Given the description of an element on the screen output the (x, y) to click on. 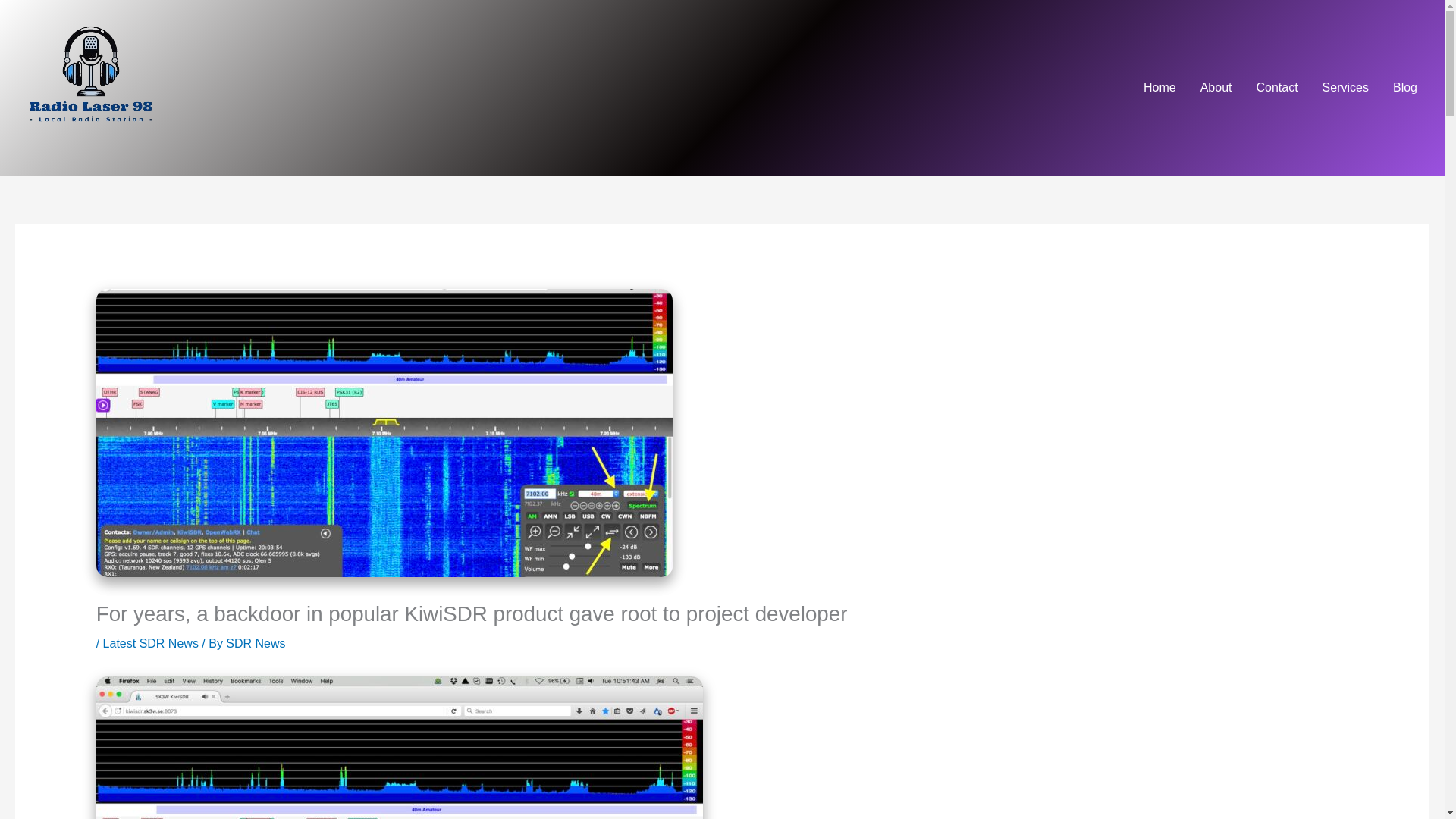
View all posts by SDR News (255, 643)
Contact (1275, 87)
Services (1345, 87)
About (1216, 87)
Home (1159, 87)
SDR News (255, 643)
Latest SDR News (150, 643)
Blog (1404, 87)
